Given the description of an element on the screen output the (x, y) to click on. 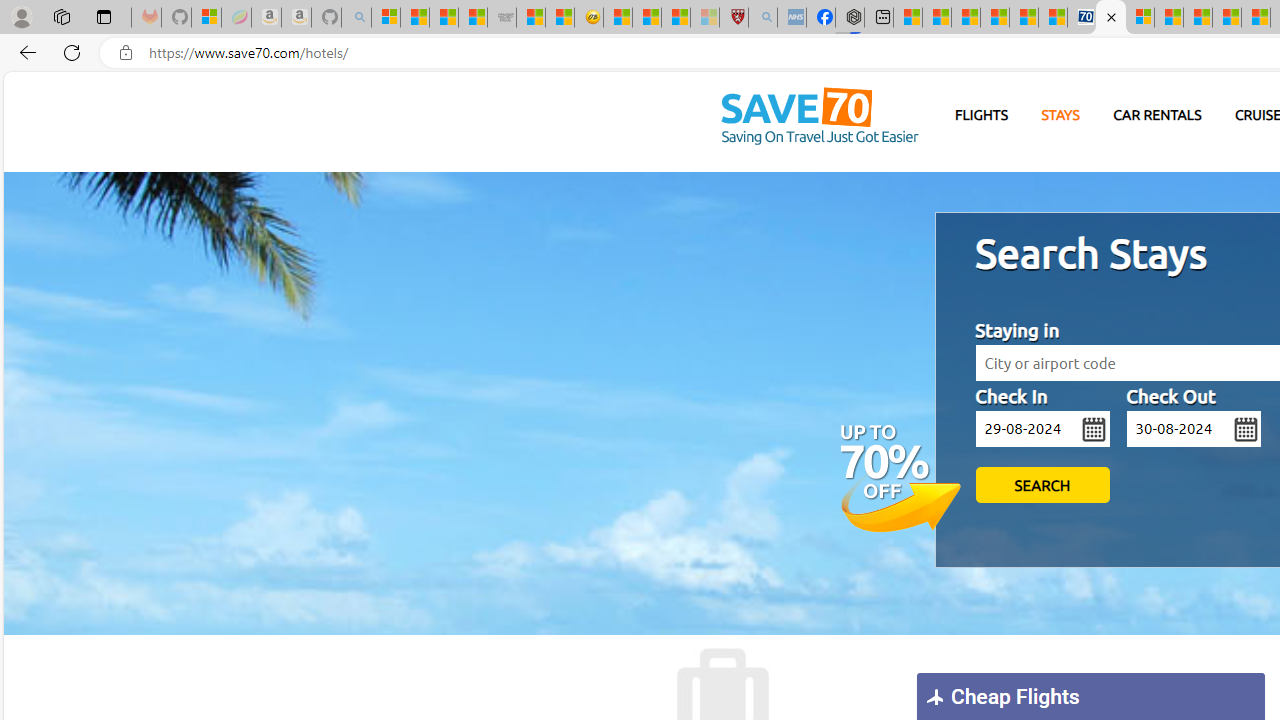
CAR RENTALS (1157, 115)
SEARCH (1042, 485)
FLIGHTS (981, 115)
STAYS (1060, 115)
Robert H. Shmerling, MD - Harvard Health (733, 17)
14 Common Myths Debunked By Scientific Facts (1227, 17)
